Given the description of an element on the screen output the (x, y) to click on. 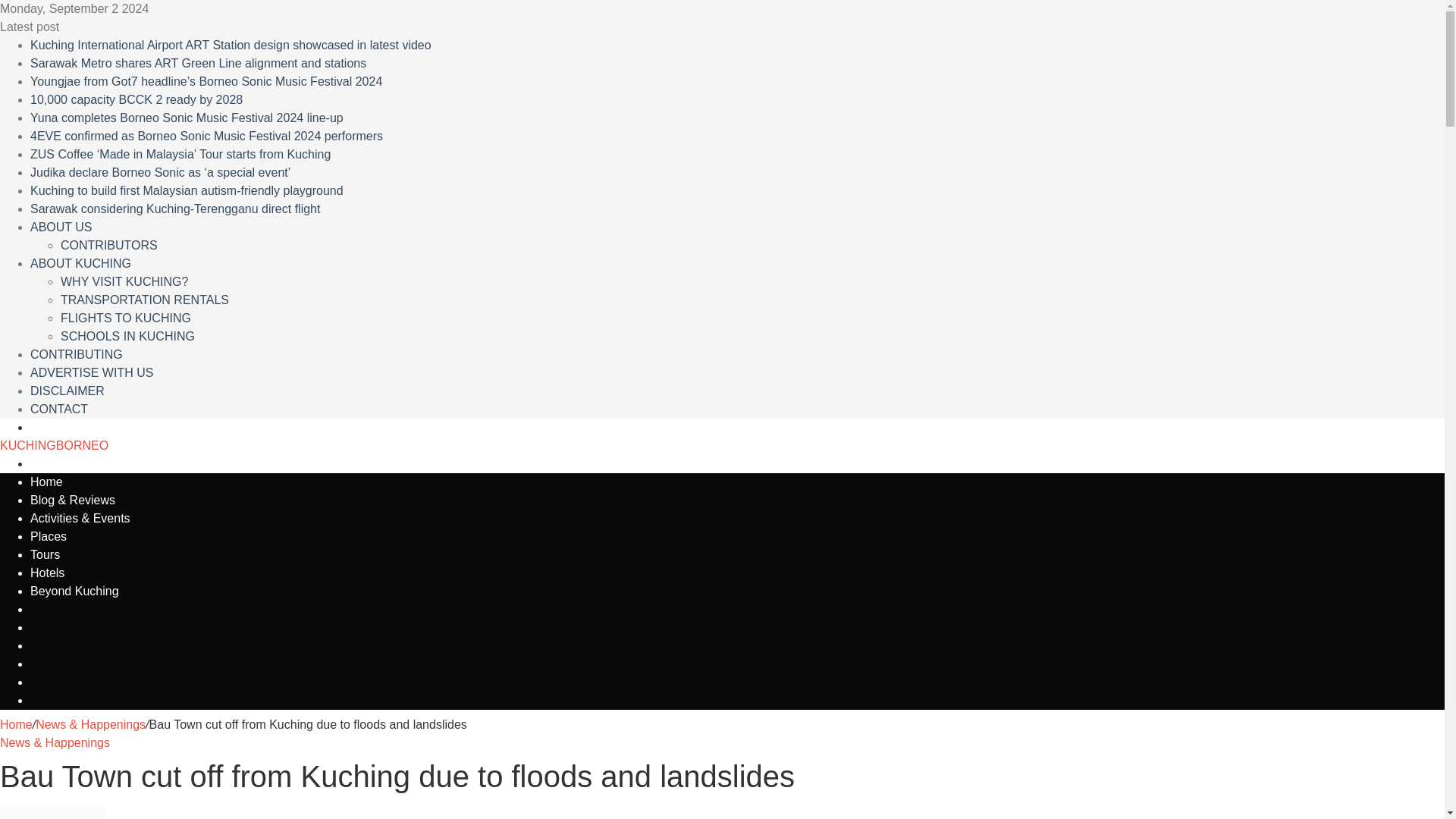
TRANSPORTATION RENTALS (144, 299)
Kuching to build first Malaysian autism-friendly playground (186, 190)
Home (16, 724)
ABOUT US (61, 226)
Hotels (47, 572)
SCHOOLS IN KUCHING (128, 336)
CONTACT (58, 408)
ABOUT KUCHING (80, 263)
Home (46, 481)
